Given the description of an element on the screen output the (x, y) to click on. 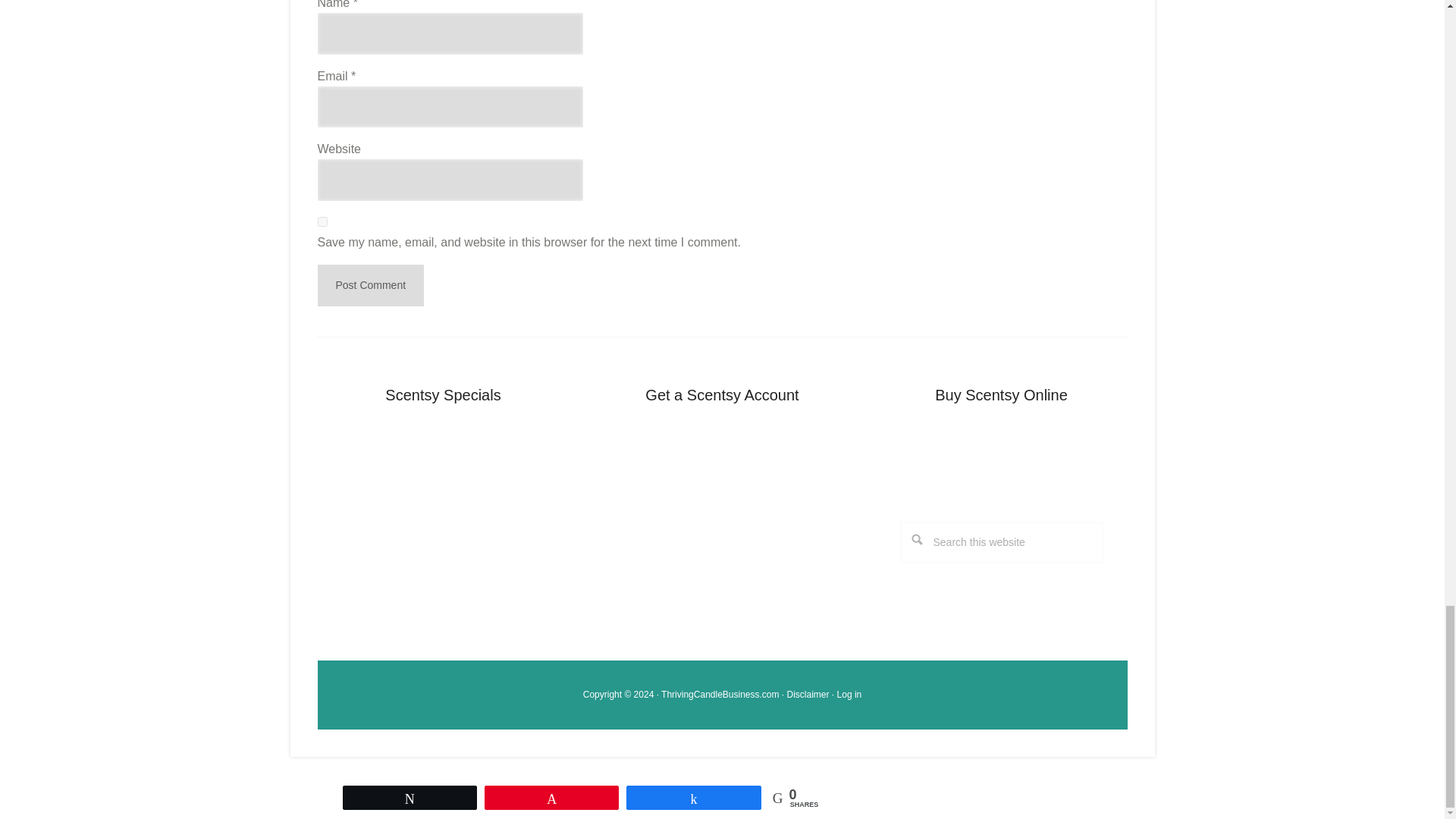
yes (321, 221)
Post Comment (370, 285)
Post Comment (370, 285)
